Given the description of an element on the screen output the (x, y) to click on. 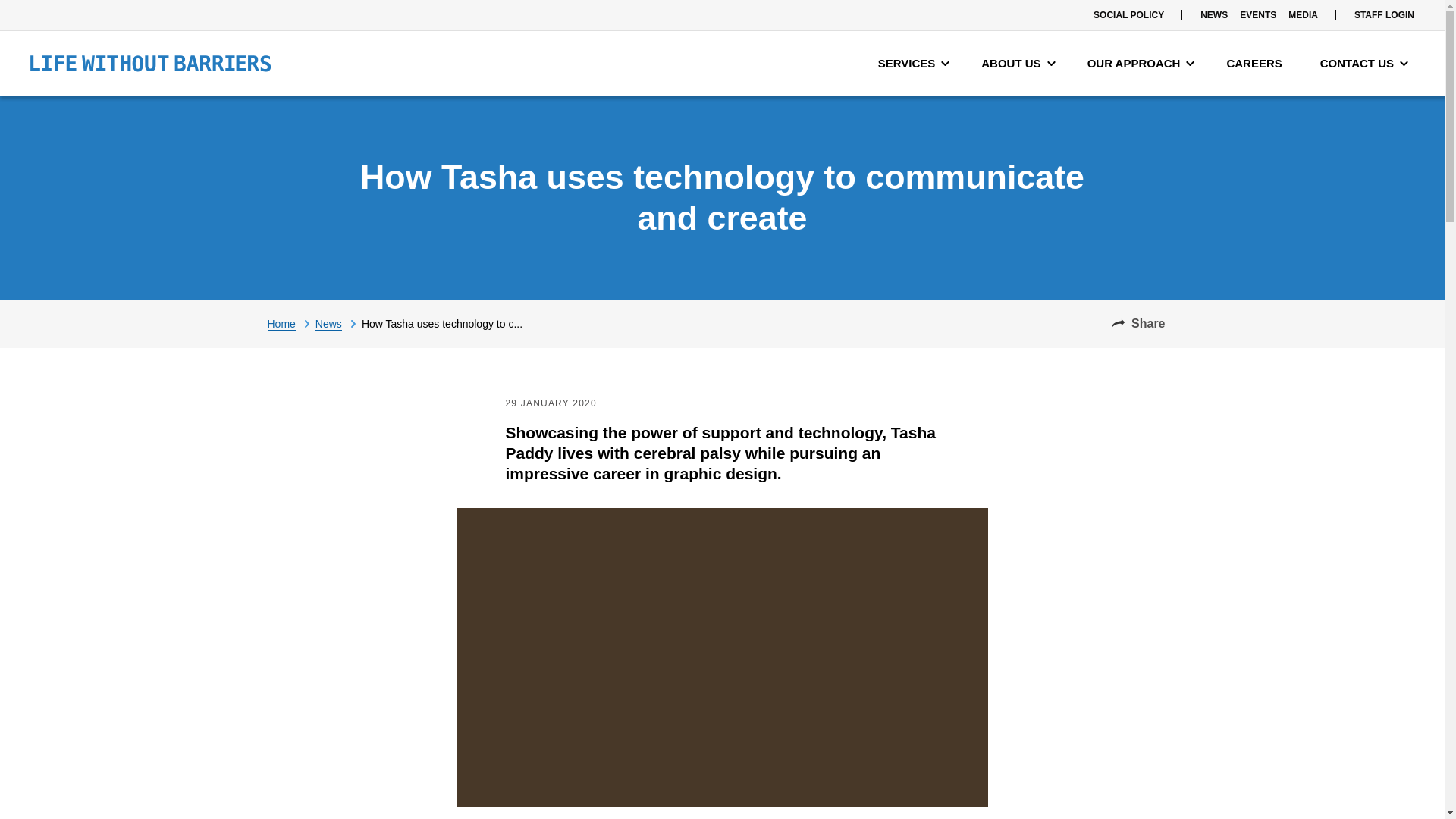
EVENTS (1257, 15)
Life Without Barriers (150, 63)
SOCIAL POLICY (1128, 15)
Our approach (1141, 63)
News (338, 322)
Return to news page (338, 322)
Home (290, 322)
Return navigation (290, 322)
STAFF LOGIN (1384, 15)
NEWS (1213, 15)
CAREERS (1257, 63)
Careers (1257, 63)
About us (1018, 63)
MEDIA (1302, 15)
Contact us (1364, 63)
